Given the description of an element on the screen output the (x, y) to click on. 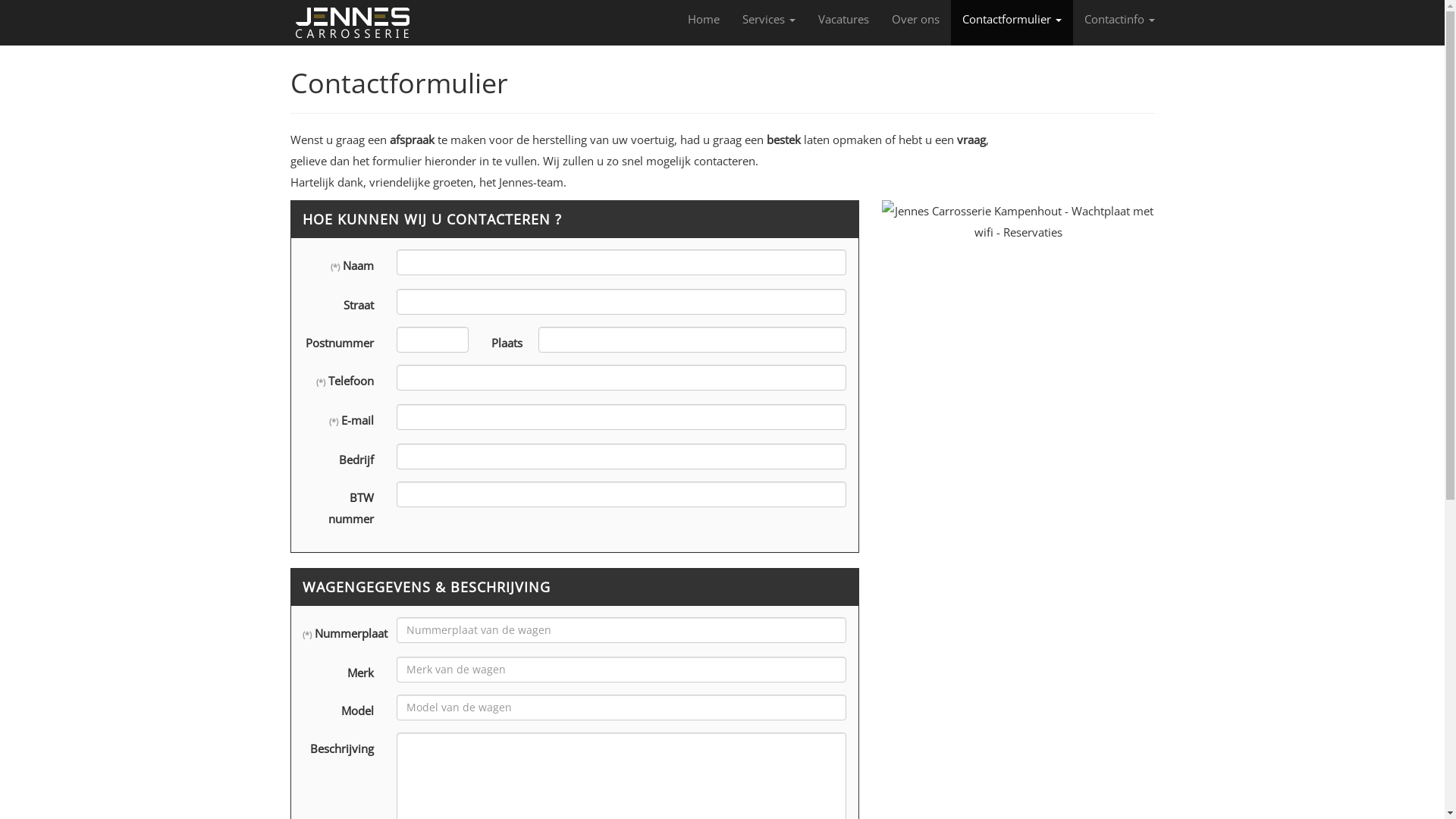
Vacatures Element type: text (843, 18)
Services Element type: text (768, 18)
Over ons Element type: text (914, 18)
Contactinfo Element type: text (1118, 18)
Home Element type: text (703, 18)
Contactformulier Element type: text (1011, 22)
